Given the description of an element on the screen output the (x, y) to click on. 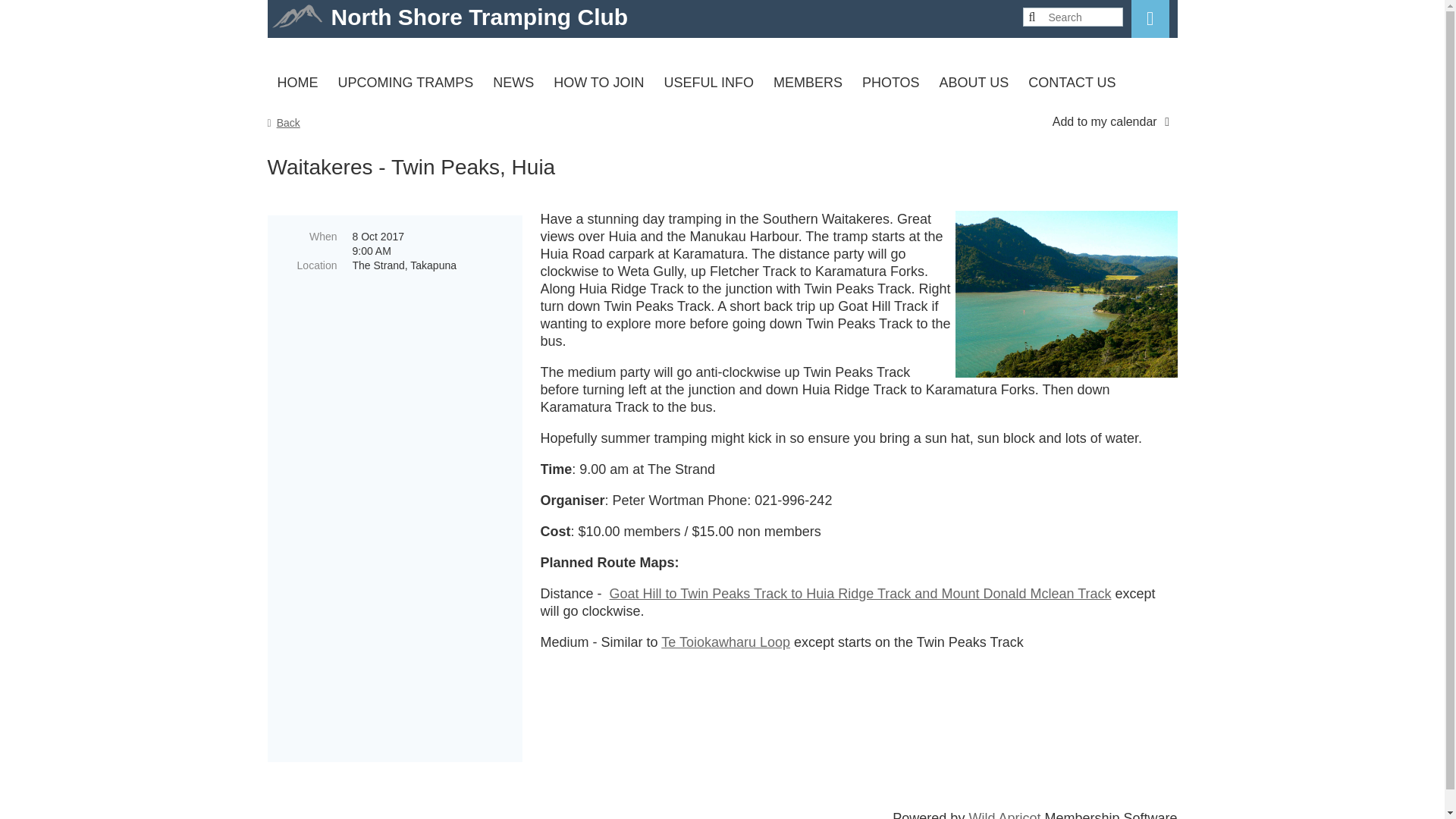
Upcoming Tramps (405, 83)
HOME (296, 83)
UPCOMING TRAMPS (405, 83)
How to Join (598, 83)
ABOUT US (974, 83)
News (513, 83)
Wild Apricot (1004, 814)
USEFUL INFO (707, 83)
Photos (890, 83)
Useful Info (707, 83)
Home (296, 83)
Back (282, 122)
Te Toiokawharu Loop (725, 642)
NEWS (513, 83)
